Given the description of an element on the screen output the (x, y) to click on. 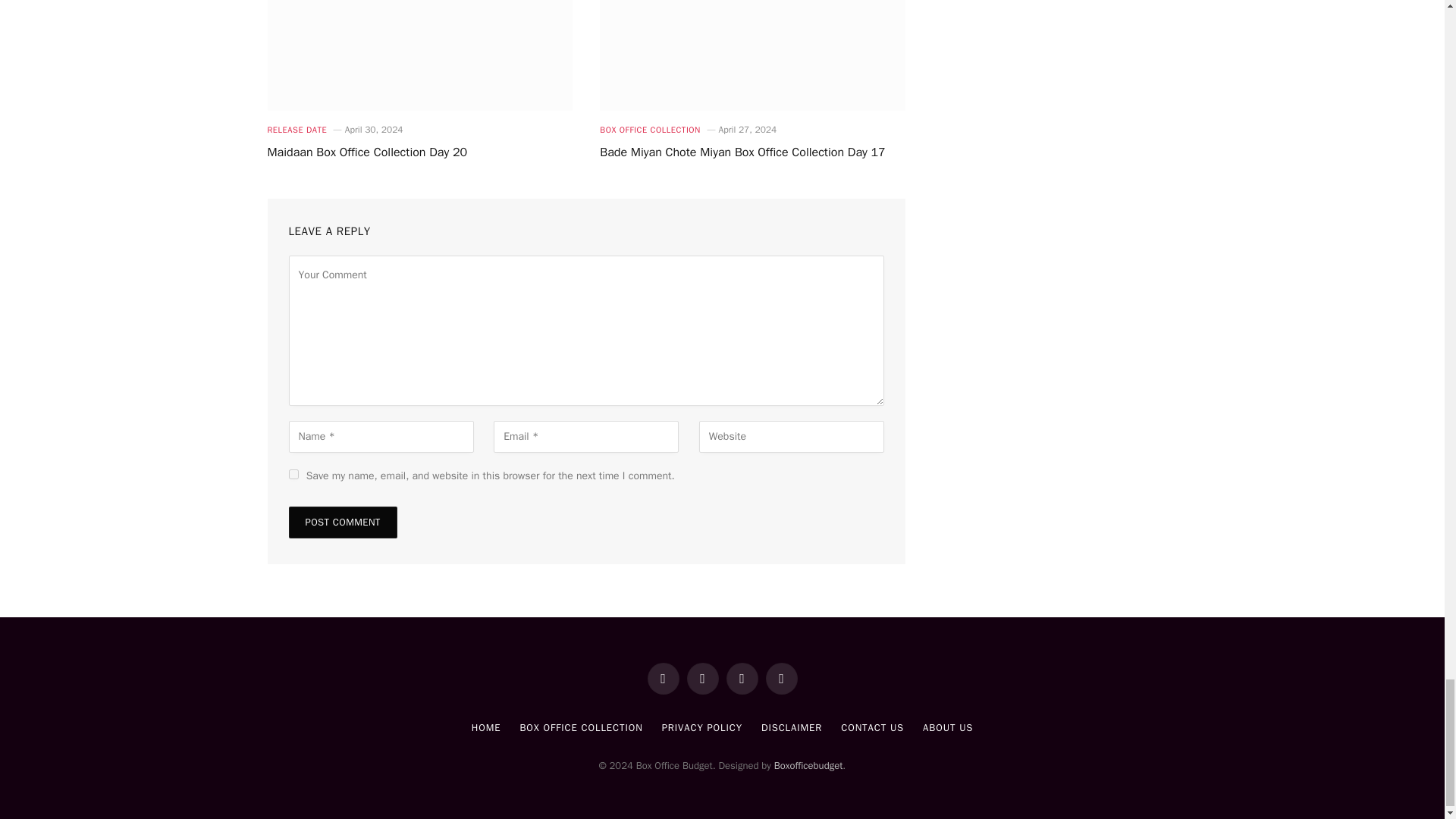
yes (293, 474)
Post Comment (342, 522)
